Given the description of an element on the screen output the (x, y) to click on. 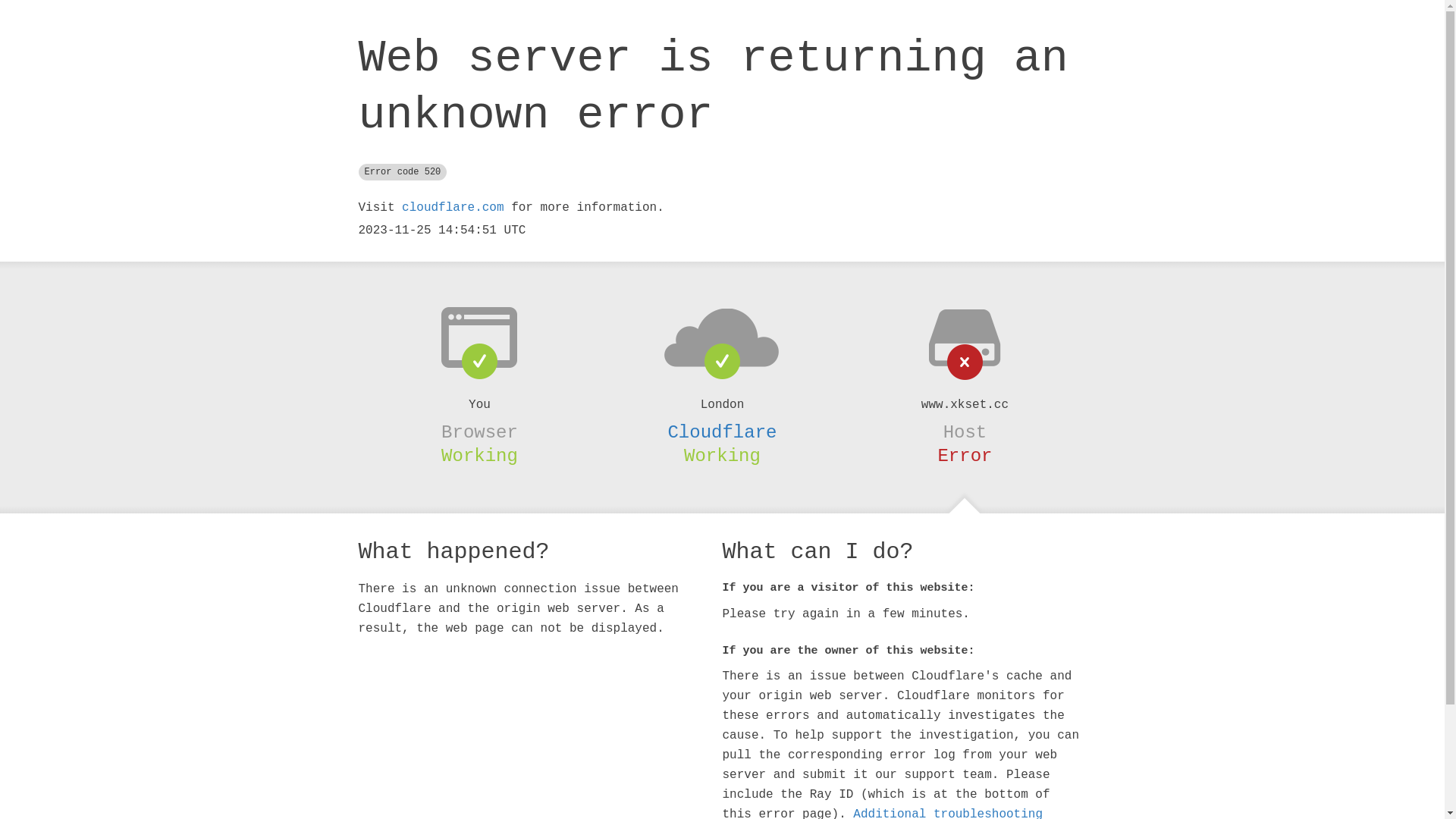
cloudflare.com Element type: text (452, 207)
Cloudflare Element type: text (721, 432)
